Given the description of an element on the screen output the (x, y) to click on. 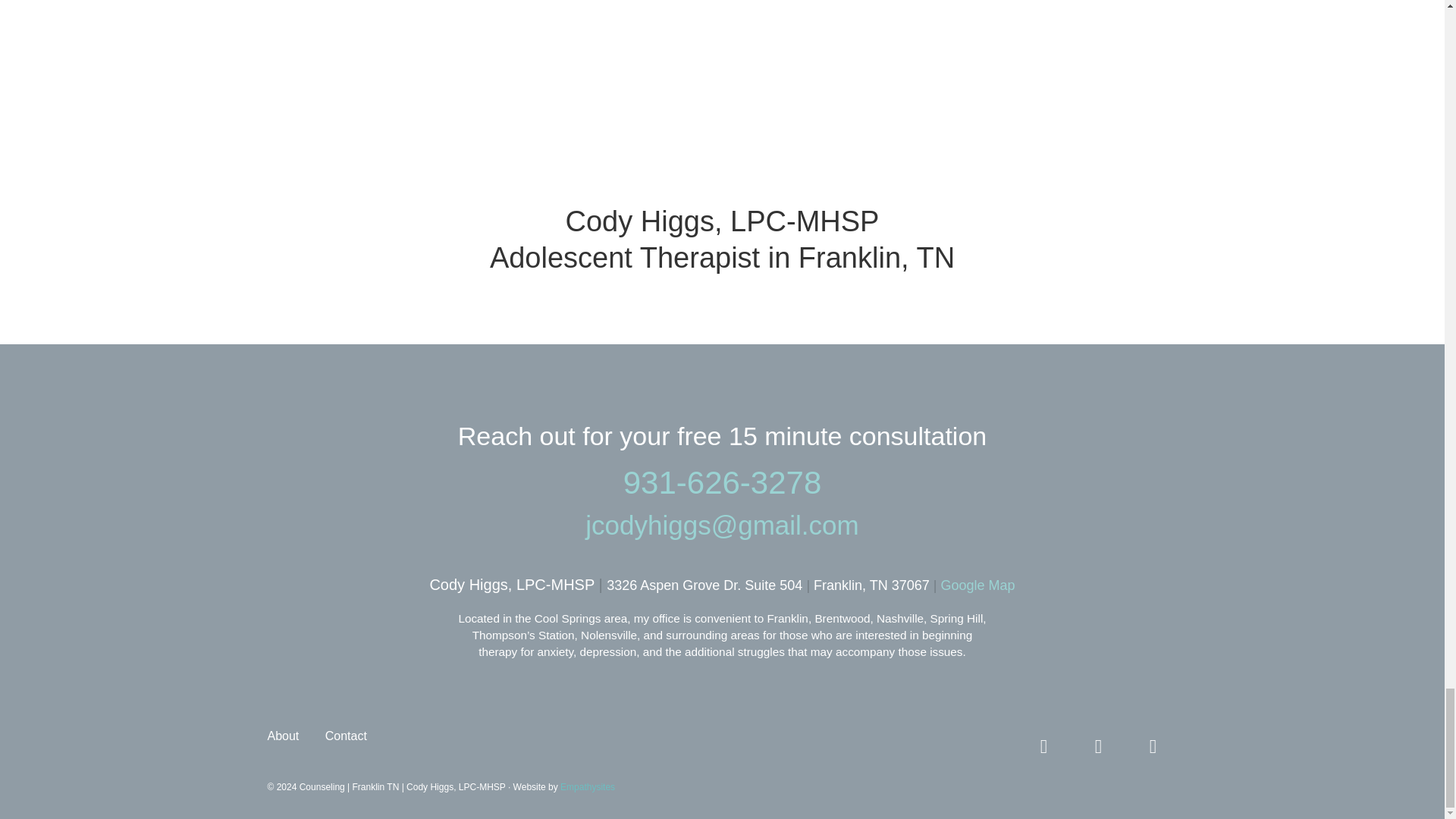
About (283, 741)
Facebook (1043, 746)
Google Map (977, 585)
931-626-3278 (722, 482)
Contact (346, 741)
Instagram (1098, 746)
